Given the description of an element on the screen output the (x, y) to click on. 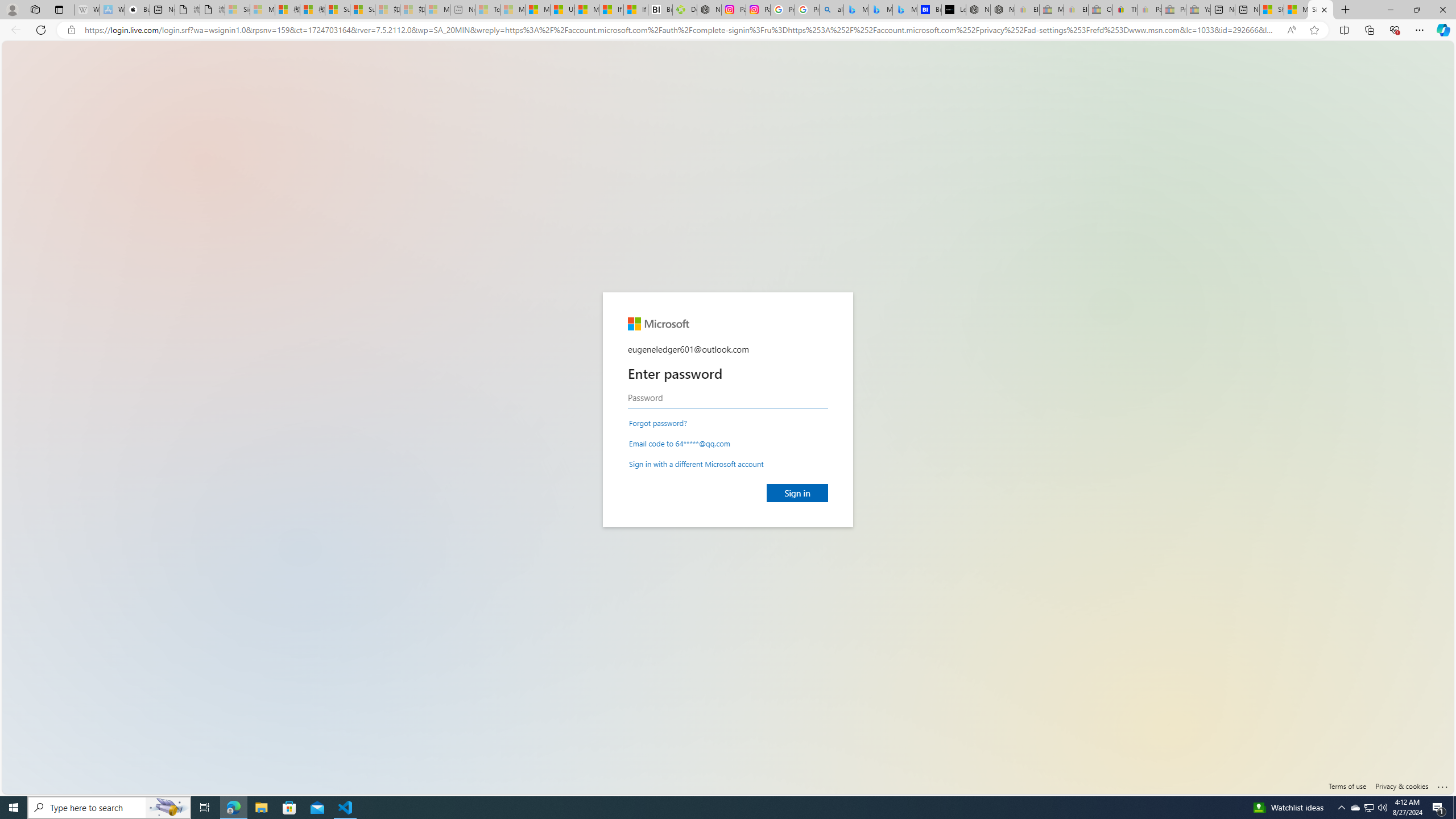
Microsoft account | Account Checkup - Sleeping (437, 9)
Yard, Garden & Outdoor Living - Sleeping (1197, 9)
Forgot password? (657, 422)
Shanghai, China hourly forecast | Microsoft Weather (1271, 9)
Nordace - Nordace Edin Collection (708, 9)
Buy iPad - Apple (136, 9)
Microsoft Bing Travel - Shangri-La Hotel Bangkok (904, 9)
US Heat Deaths Soared To Record High Last Year (562, 9)
